Given the description of an element on the screen output the (x, y) to click on. 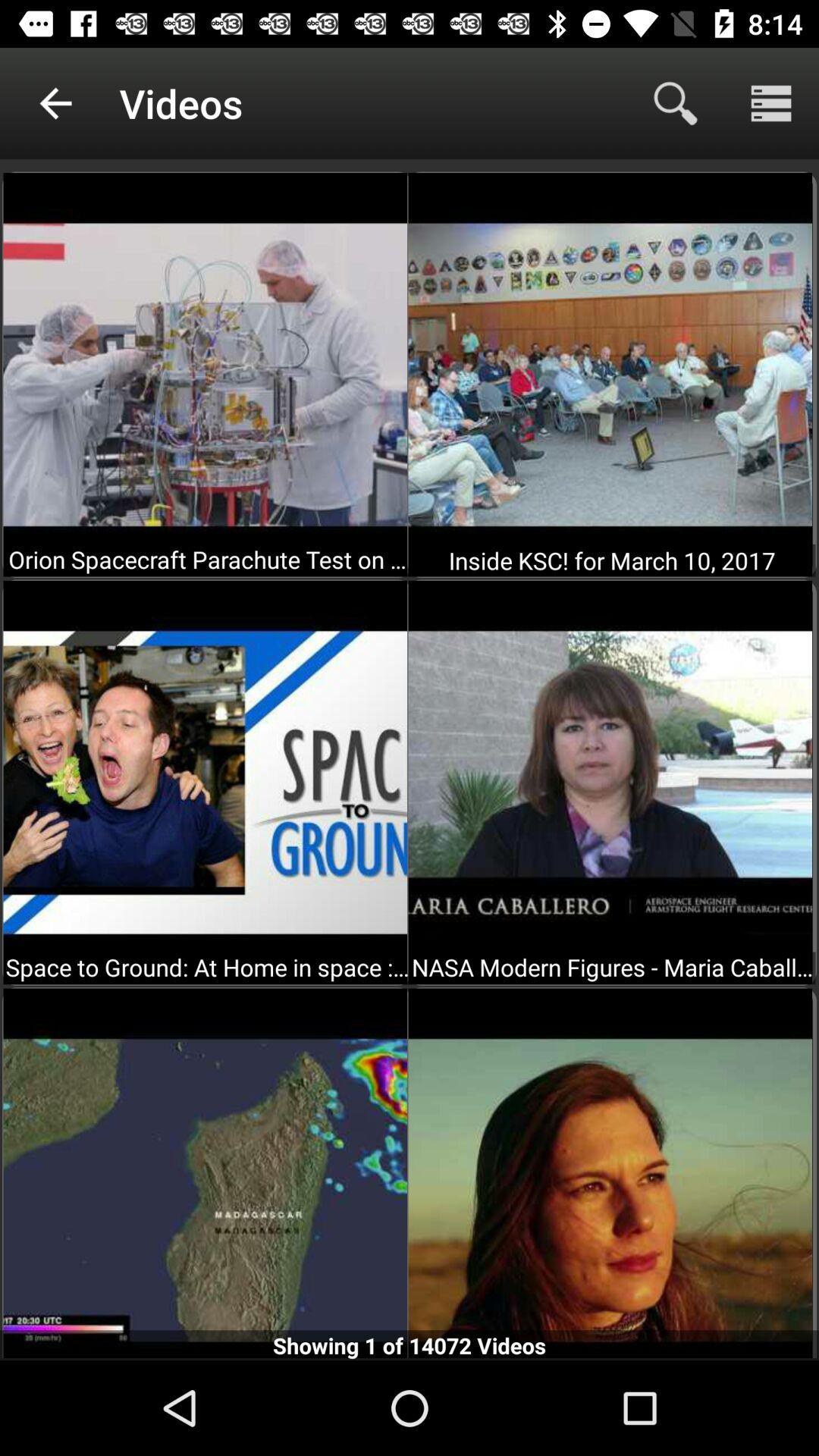
choose the item next to the videos item (55, 103)
